Given the description of an element on the screen output the (x, y) to click on. 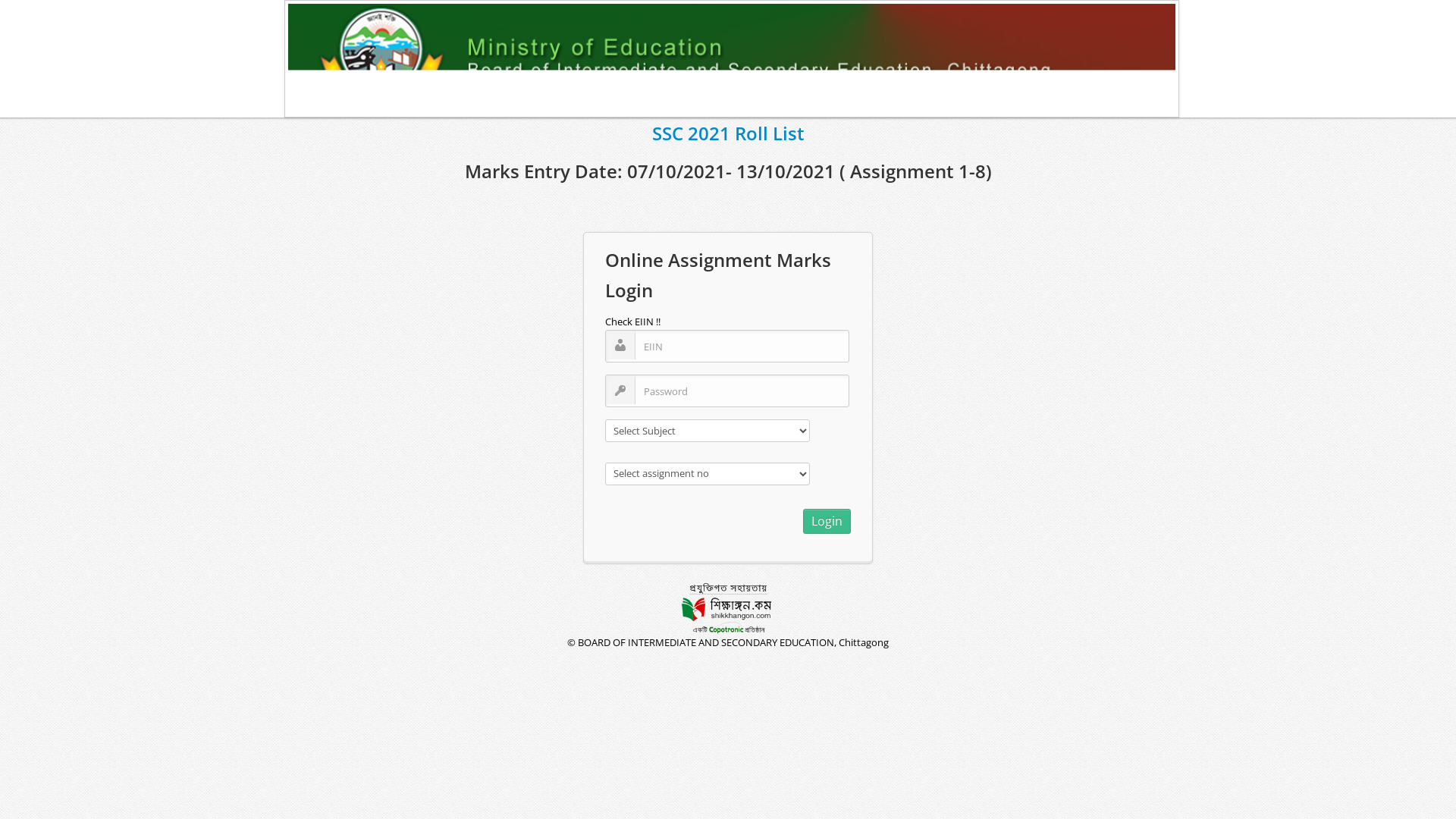
Login Element type: text (826, 520)
SSC 2021 Roll List Element type: text (728, 132)
